Given the description of an element on the screen output the (x, y) to click on. 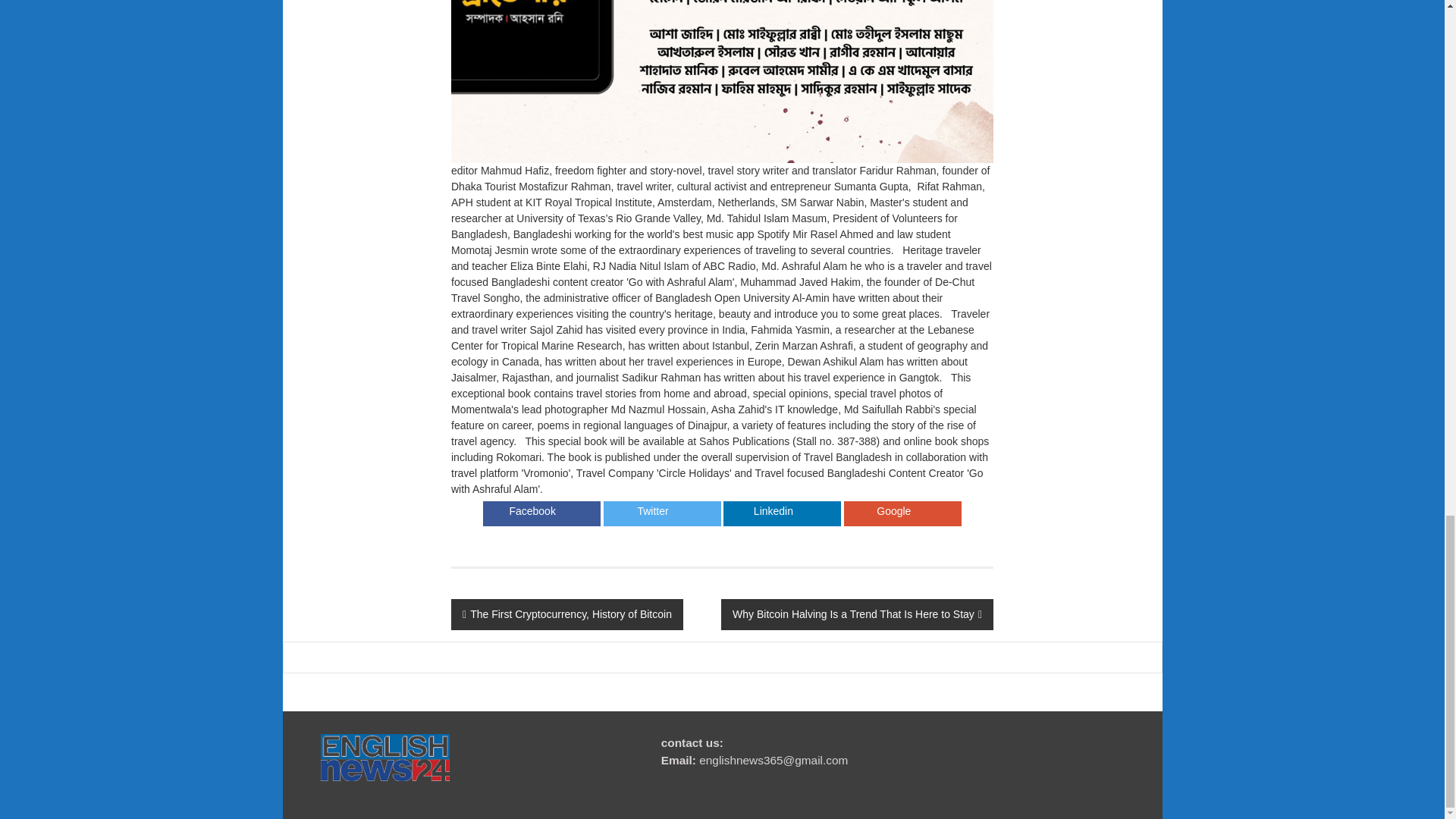
Twitter (652, 511)
Linkedin (772, 511)
Facebook (532, 511)
News Portal (384, 756)
